Given the description of an element on the screen output the (x, y) to click on. 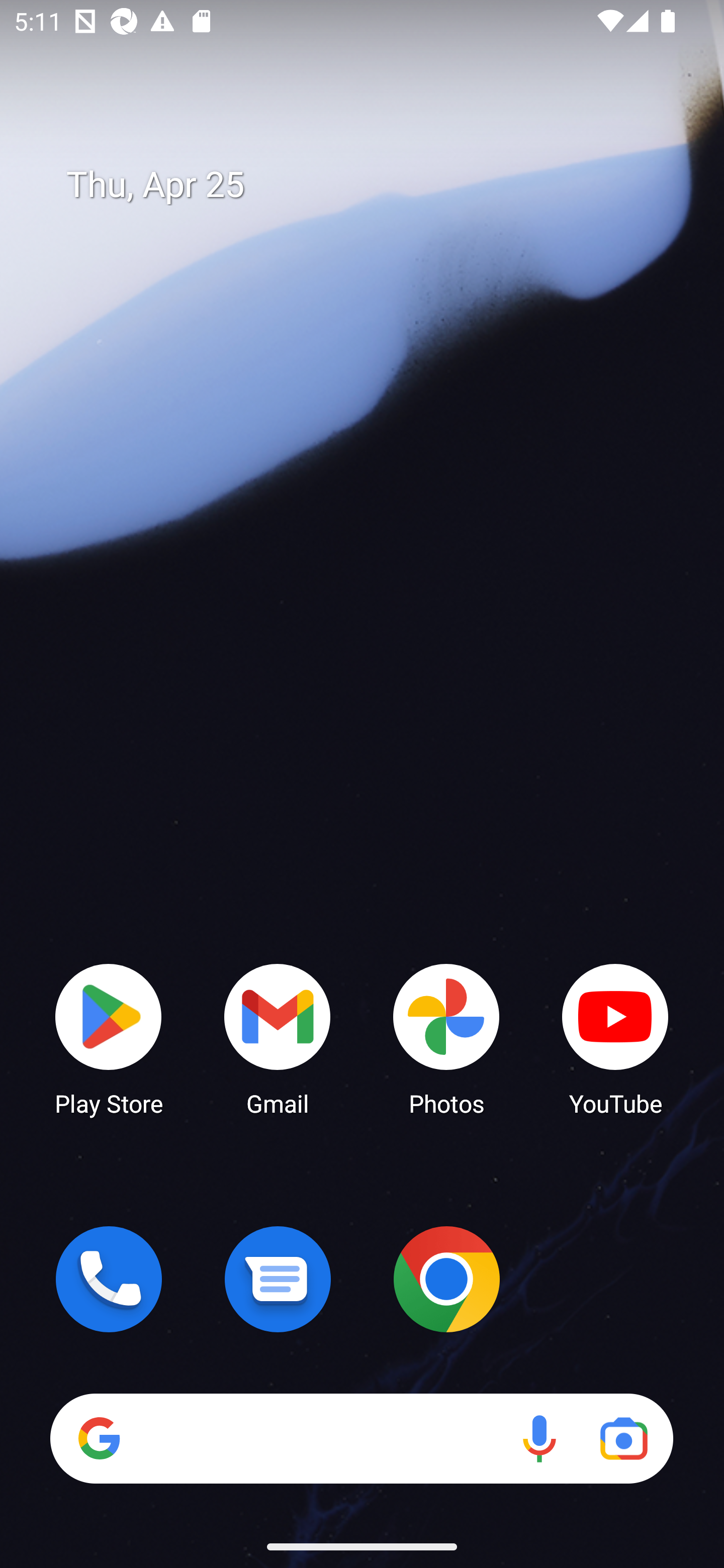
Thu, Apr 25 (375, 184)
Play Store (108, 1038)
Gmail (277, 1038)
Photos (445, 1038)
YouTube (615, 1038)
Phone (108, 1279)
Messages (277, 1279)
Chrome (446, 1279)
Search Voice search Google Lens (361, 1438)
Voice search (539, 1438)
Google Lens (623, 1438)
